Given the description of an element on the screen output the (x, y) to click on. 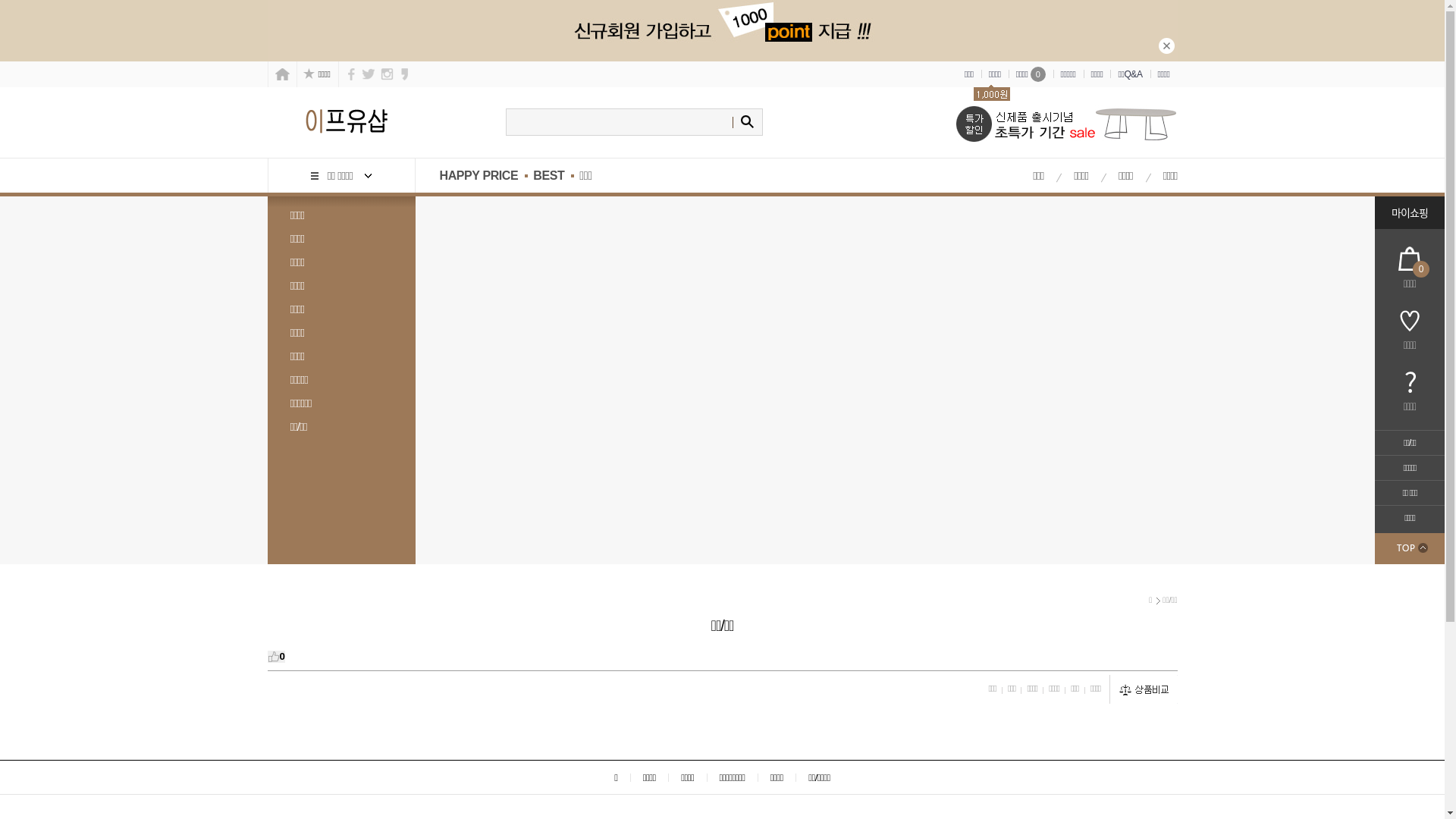
BEST Element type: text (548, 175)
0 Element type: text (275, 656)
HAPPY PRICE Element type: text (470, 175)
